Given the description of an element on the screen output the (x, y) to click on. 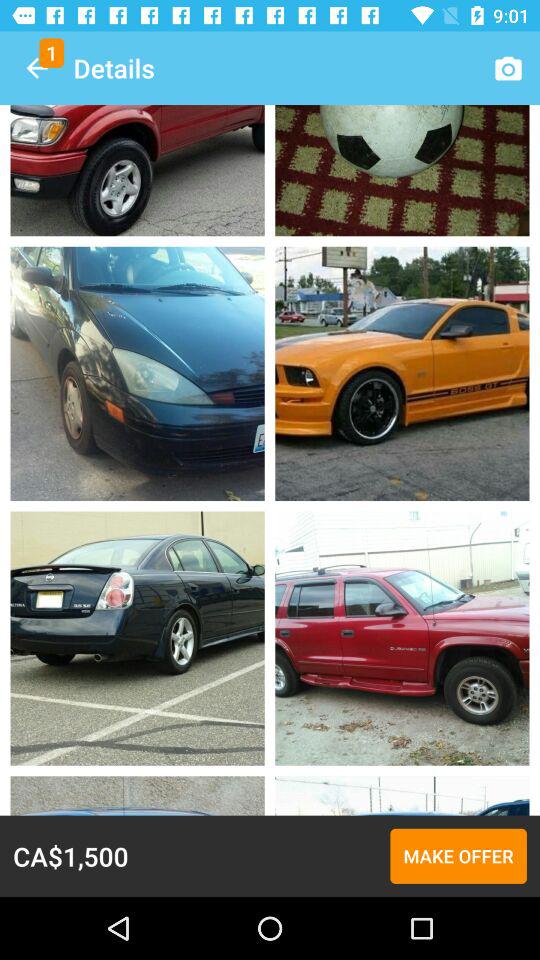
click the item to the right of the ca$1,500 icon (458, 855)
